Given the description of an element on the screen output the (x, y) to click on. 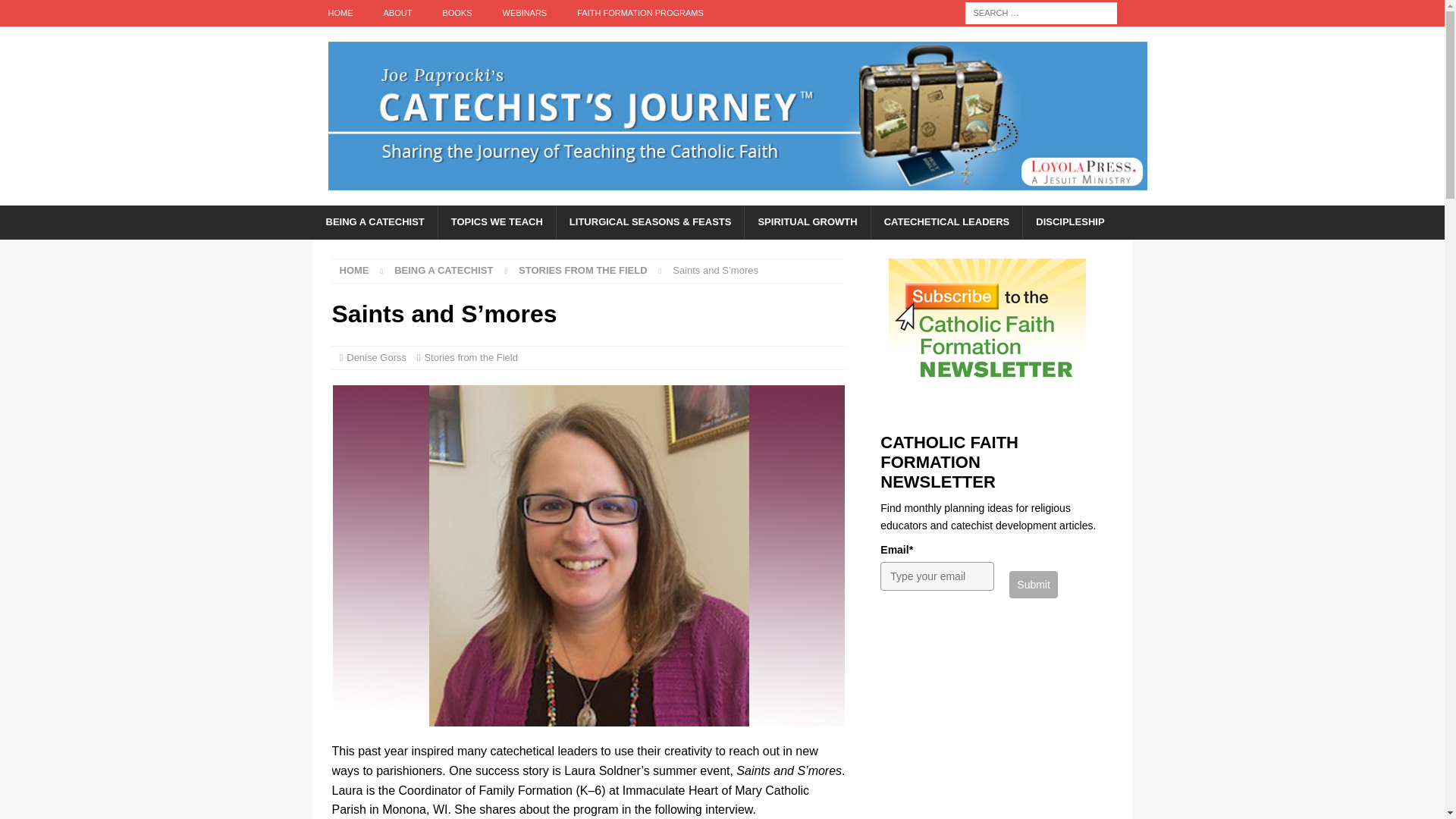
Stories from the Field (582, 270)
ABOUT (398, 13)
WEBINARS (524, 13)
BOOKS (456, 13)
Home (354, 270)
HOME (340, 13)
FAITH FORMATION PROGRAMS (640, 13)
TOPICS WE TEACH (497, 222)
BEING A CATECHIST (374, 222)
Search (56, 11)
Catechist's Journey (737, 196)
